Given the description of an element on the screen output the (x, y) to click on. 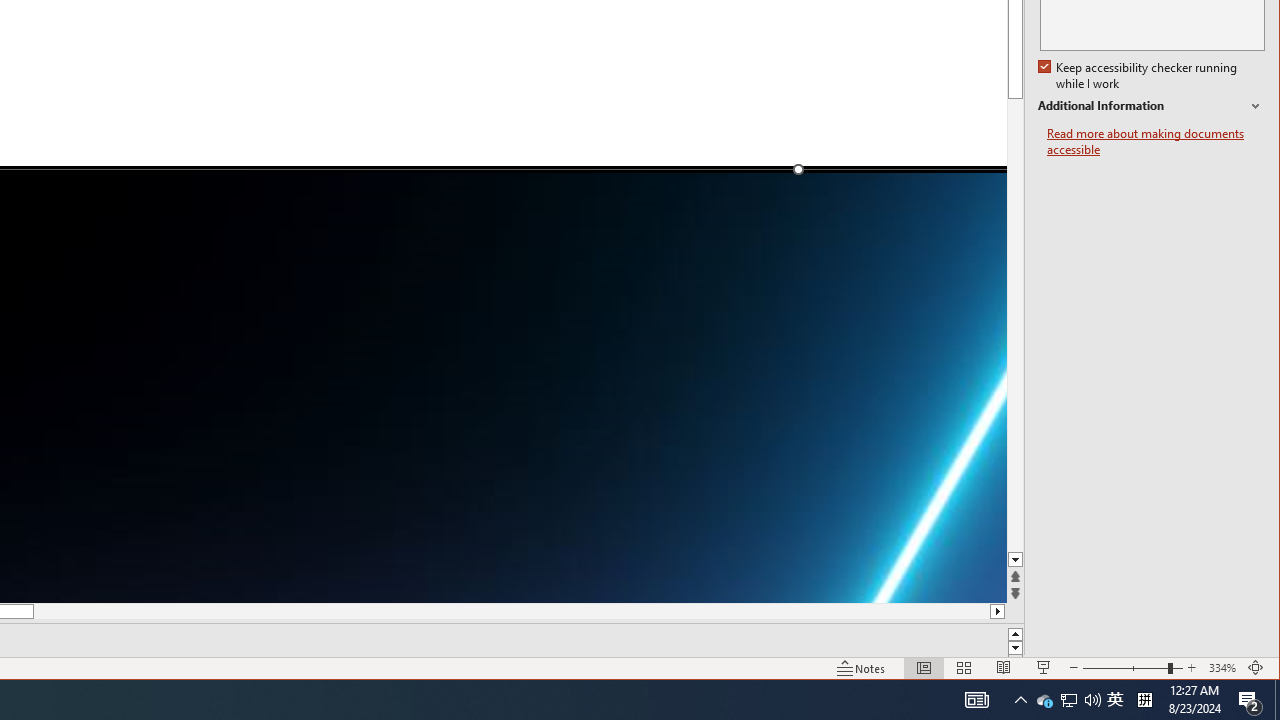
Line down (1015, 560)
Normal (923, 668)
Show desktop (1277, 699)
Zoom In (1191, 668)
User Promoted Notification Area (1115, 699)
Reading View (1068, 699)
Slide Sorter (1004, 668)
Zoom (964, 668)
Q2790: 100% (1132, 668)
Tray Input Indicator - Chinese (Simplified, China) (1092, 699)
Page down (1144, 699)
Zoom Out (1015, 342)
